Given the description of an element on the screen output the (x, y) to click on. 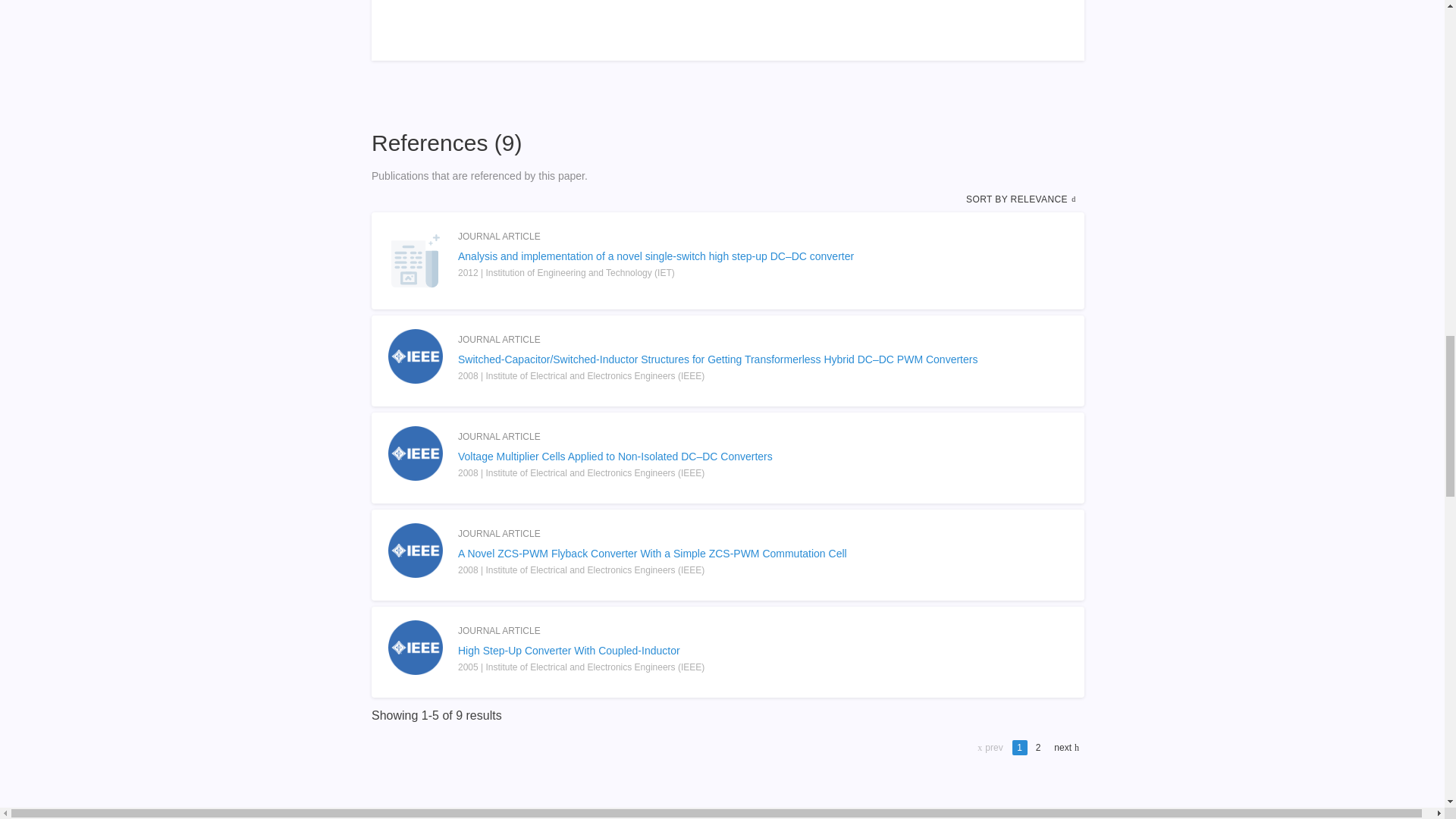
Publication cover (415, 550)
Publication cover (415, 646)
Publication cover (415, 356)
Publication cover (415, 452)
next (1064, 747)
SORT BY RELEVANCE (1022, 199)
1 (1019, 747)
High Step-Up Converter With Coupled-Inductor (727, 650)
